Given the description of an element on the screen output the (x, y) to click on. 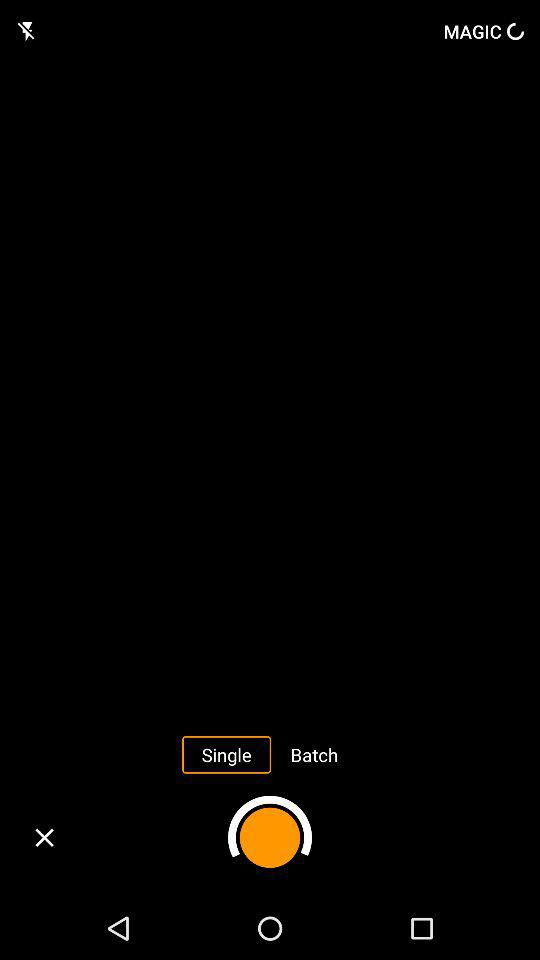
click item next to magic icon (27, 31)
